Given the description of an element on the screen output the (x, y) to click on. 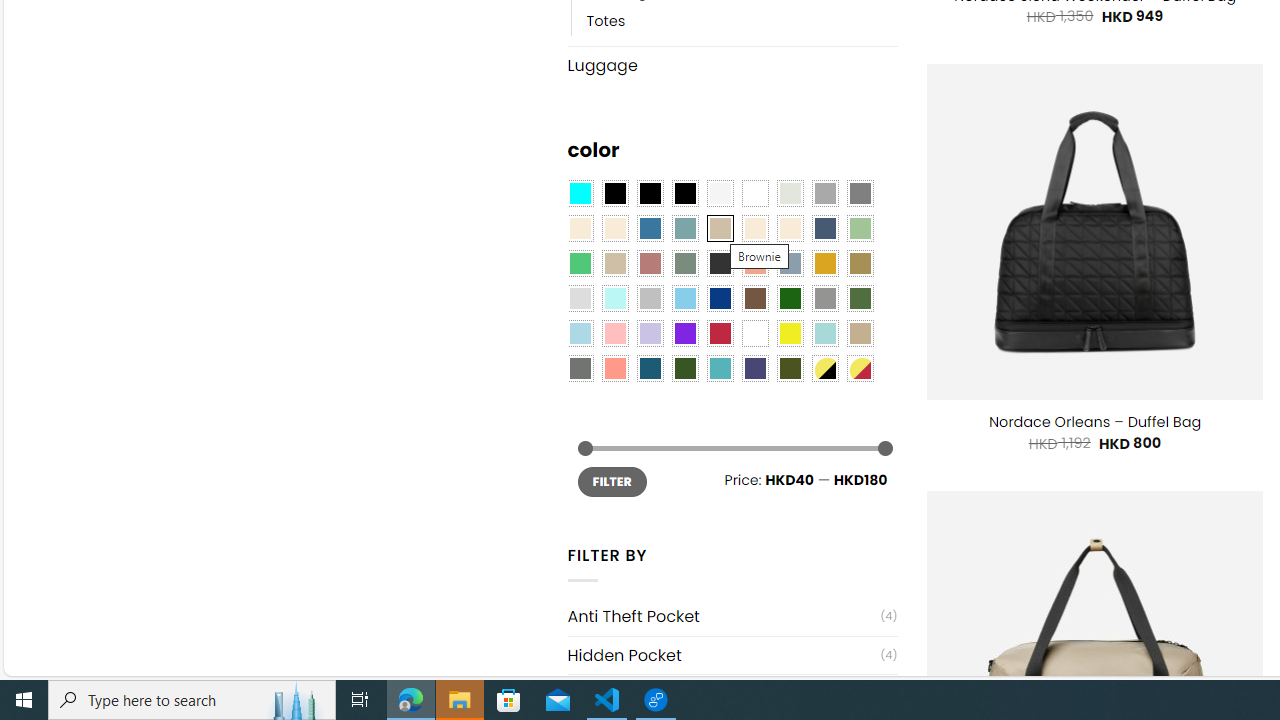
Navy Blue (719, 298)
Dark Gray (824, 193)
Aqua Blue (579, 193)
Laptop Sleeve(3) (732, 693)
Caramel (755, 228)
White (755, 334)
Totes (742, 20)
Teal (719, 368)
Coral (755, 264)
Yellow (789, 334)
Light Purple (650, 334)
Gold (824, 264)
Green (859, 298)
All Gray (859, 193)
